Given the description of an element on the screen output the (x, y) to click on. 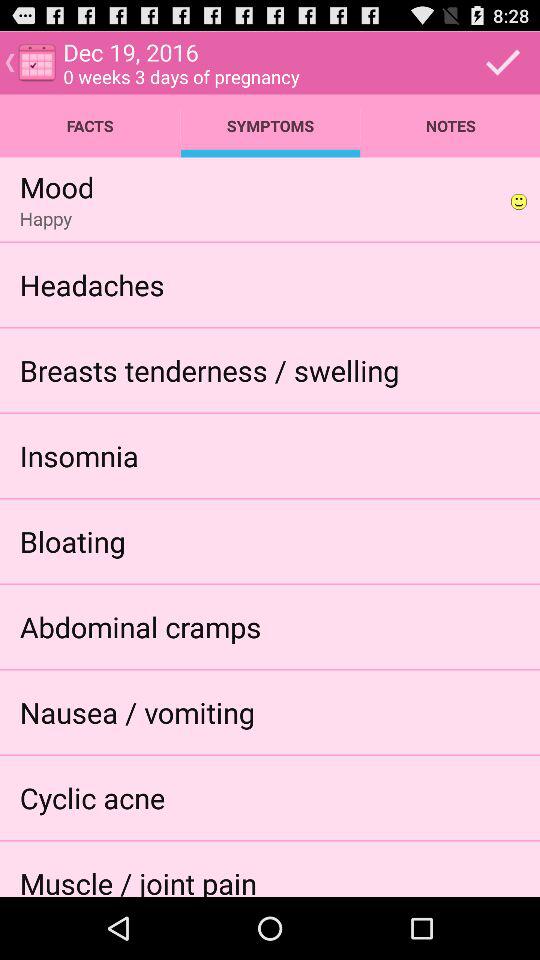
turn on icon above the happy app (56, 186)
